Given the description of an element on the screen output the (x, y) to click on. 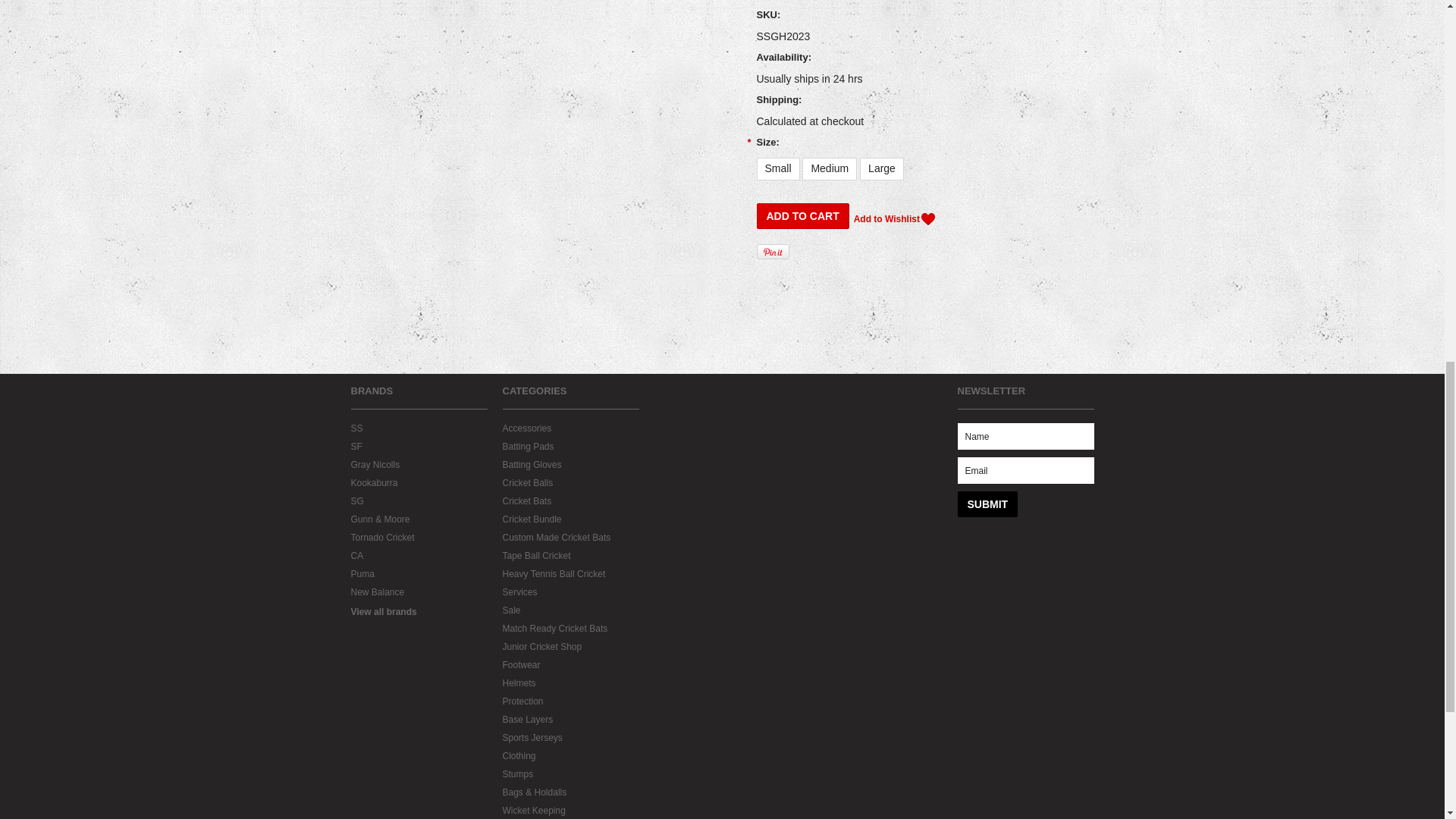
Email (1024, 470)
Submit (986, 503)
Add To Cart (802, 216)
Add To Cart (802, 216)
Name (1024, 436)
Add to Wishlist (893, 219)
Add to Wishlist (893, 219)
